Given the description of an element on the screen output the (x, y) to click on. 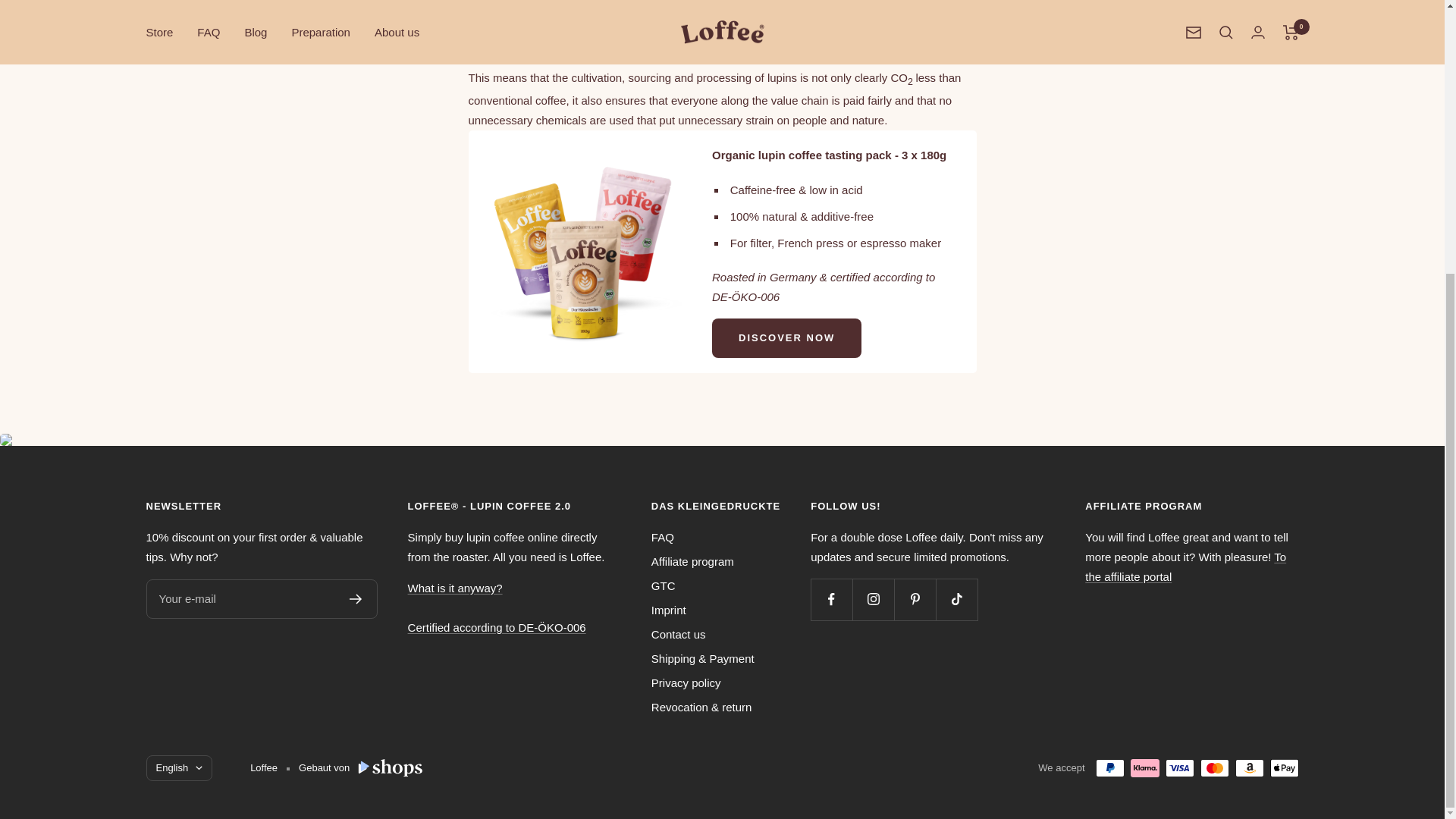
DISCOVER NOW (786, 337)
Affiliate program from Loffee (1184, 566)
Register (355, 598)
FAQ (662, 537)
Affiliate program (691, 561)
Buy lupin coffee (582, 161)
Contact us (678, 634)
Buy lupin coffee (786, 337)
GTC (662, 586)
Privacy policy (685, 682)
